Given the description of an element on the screen output the (x, y) to click on. 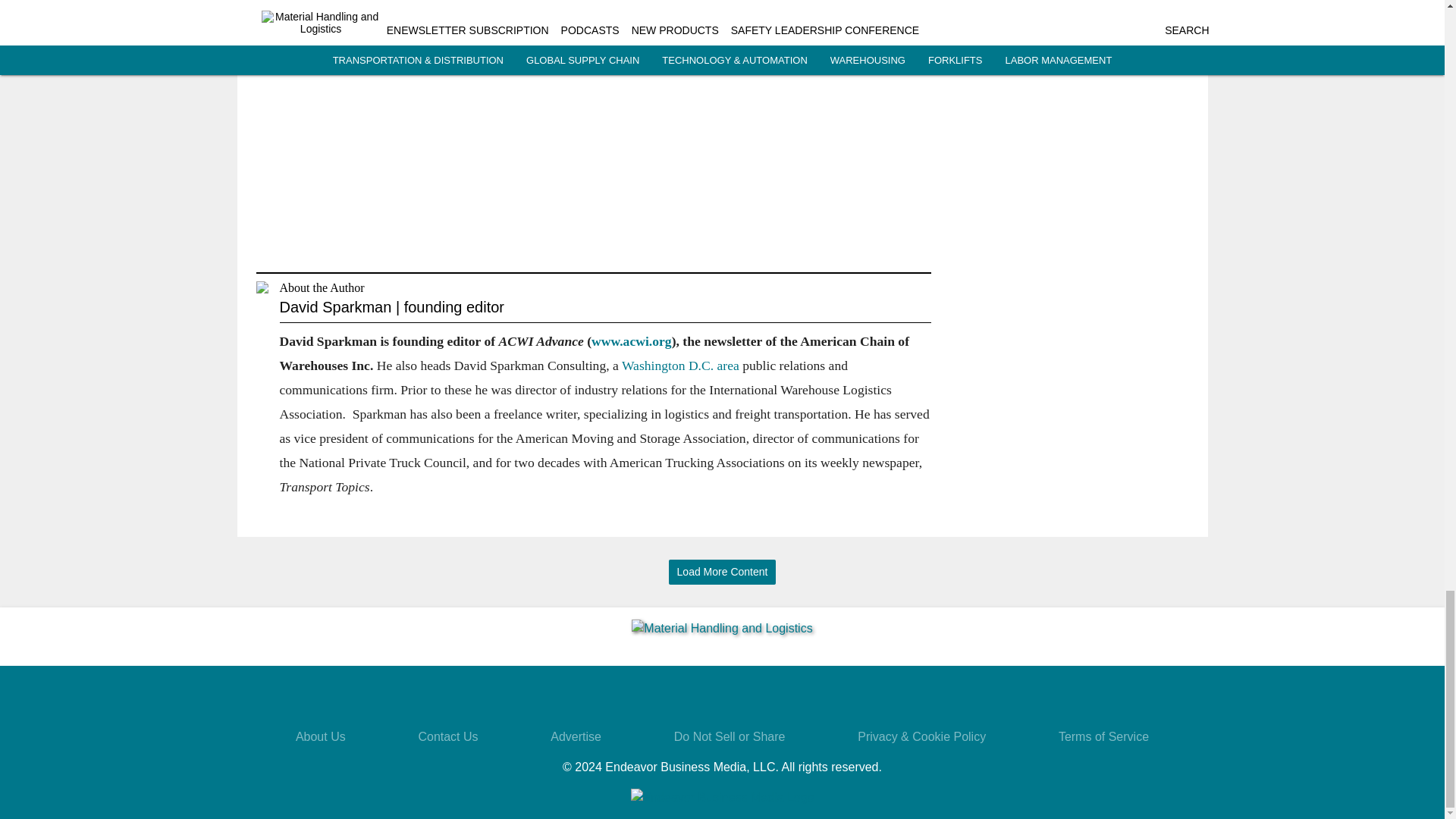
About Us (320, 736)
www.acwi.org (631, 340)
Washington D.C. area (680, 365)
Find other members in Washington D.C. Metro Area (680, 365)
Load More Content (722, 571)
Contact Us (447, 736)
